Given the description of an element on the screen output the (x, y) to click on. 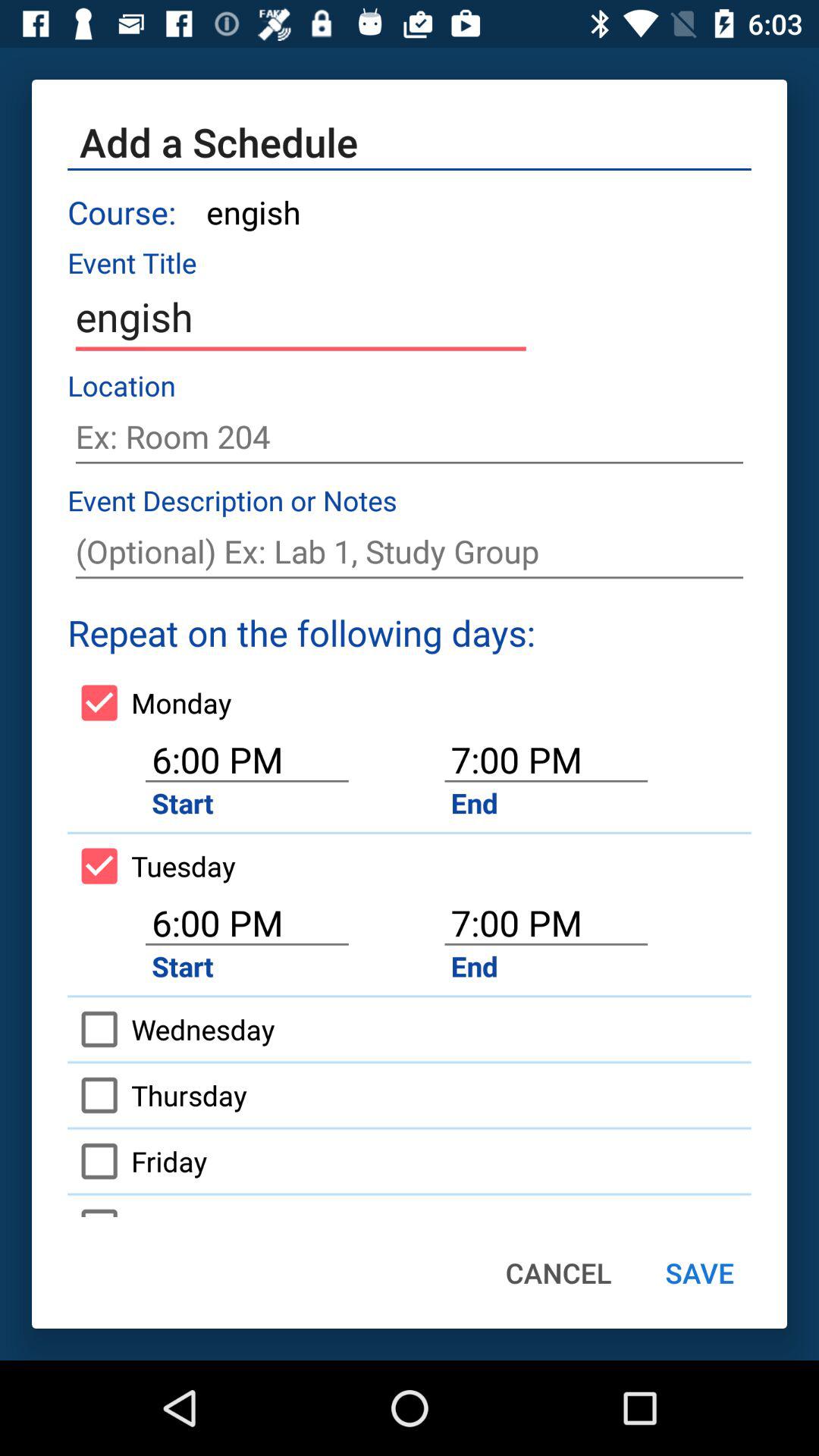
add note (409, 551)
